Given the description of an element on the screen output the (x, y) to click on. 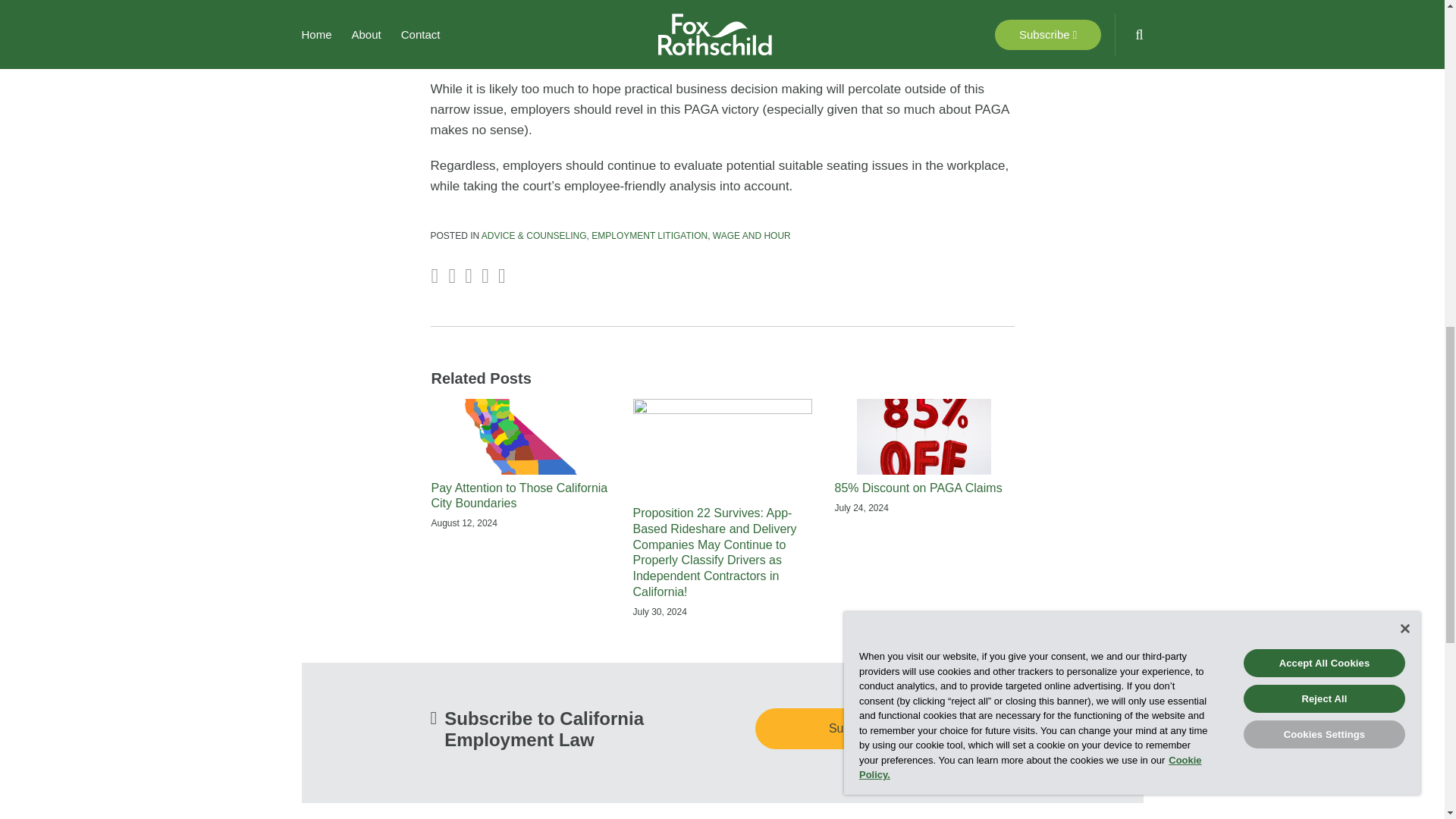
EMPLOYMENT LITIGATION (649, 235)
Pay Attention to Those California City Boundaries (520, 496)
Subscribe by Email (884, 728)
WAGE AND HOUR (751, 235)
